Given the description of an element on the screen output the (x, y) to click on. 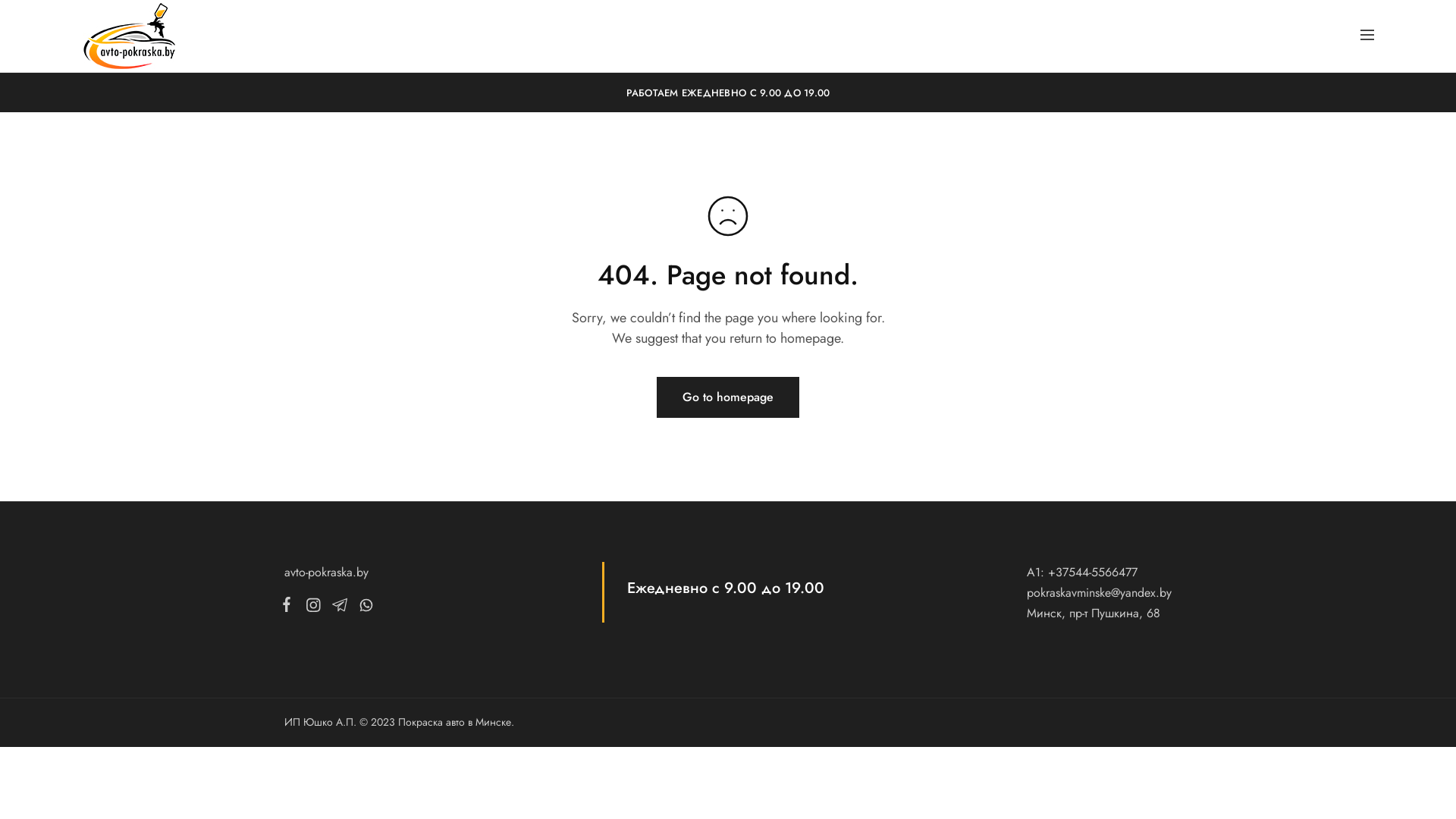
Whatsapp Element type: hover (362, 607)
avto-pokraska.by Element type: text (111, 47)
Facebook Element type: hover (289, 607)
avto-pokraska.by Element type: text (326, 571)
Go to homepage Element type: text (727, 396)
Telegram Element type: hover (339, 607)
Instagram Element type: hover (312, 607)
